Given the description of an element on the screen output the (x, y) to click on. 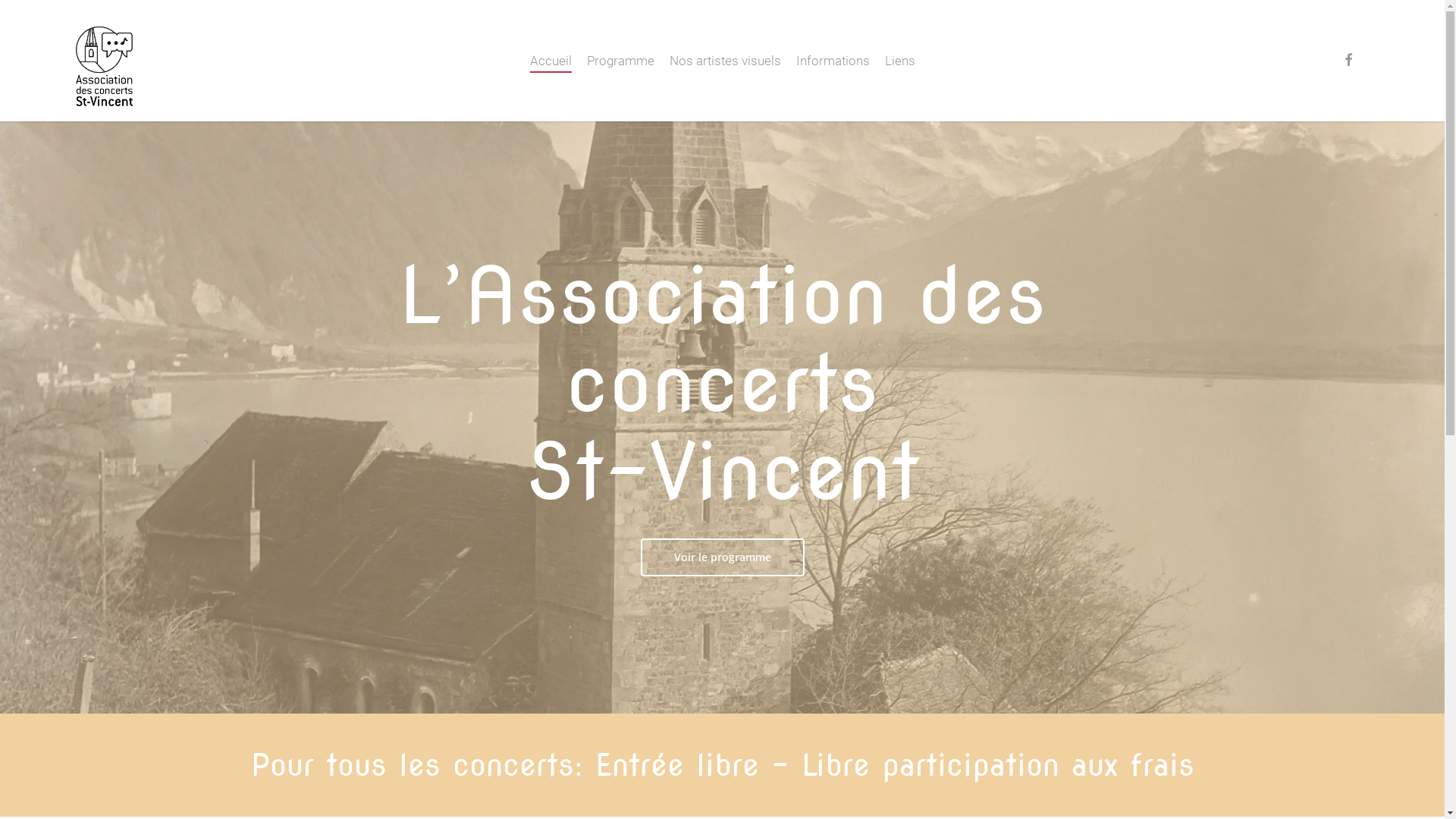
Voir le programme Element type: text (721, 557)
Programme Element type: text (620, 60)
facebook Element type: text (1347, 60)
Nos artistes visuels Element type: text (724, 60)
Informations Element type: text (832, 60)
Accueil Element type: text (550, 60)
Menu Element type: text (1415, 7)
Liens Element type: text (899, 60)
